Given the description of an element on the screen output the (x, y) to click on. 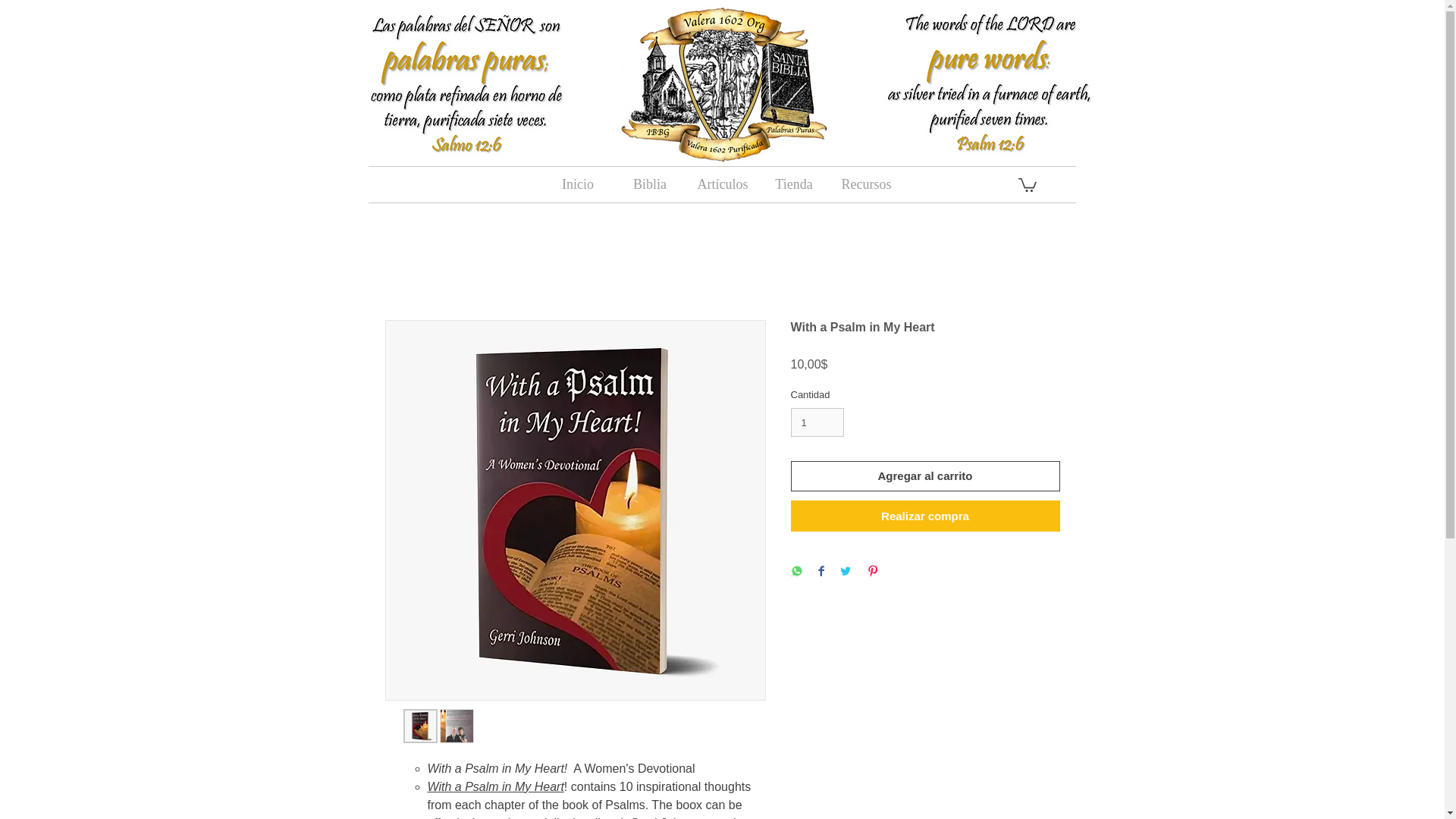
Realizar compra (924, 515)
Agregar al carrito (924, 476)
Recursos (865, 184)
Biblia (649, 184)
1 (817, 421)
Inicio (576, 184)
Tienda (793, 184)
